Given the description of an element on the screen output the (x, y) to click on. 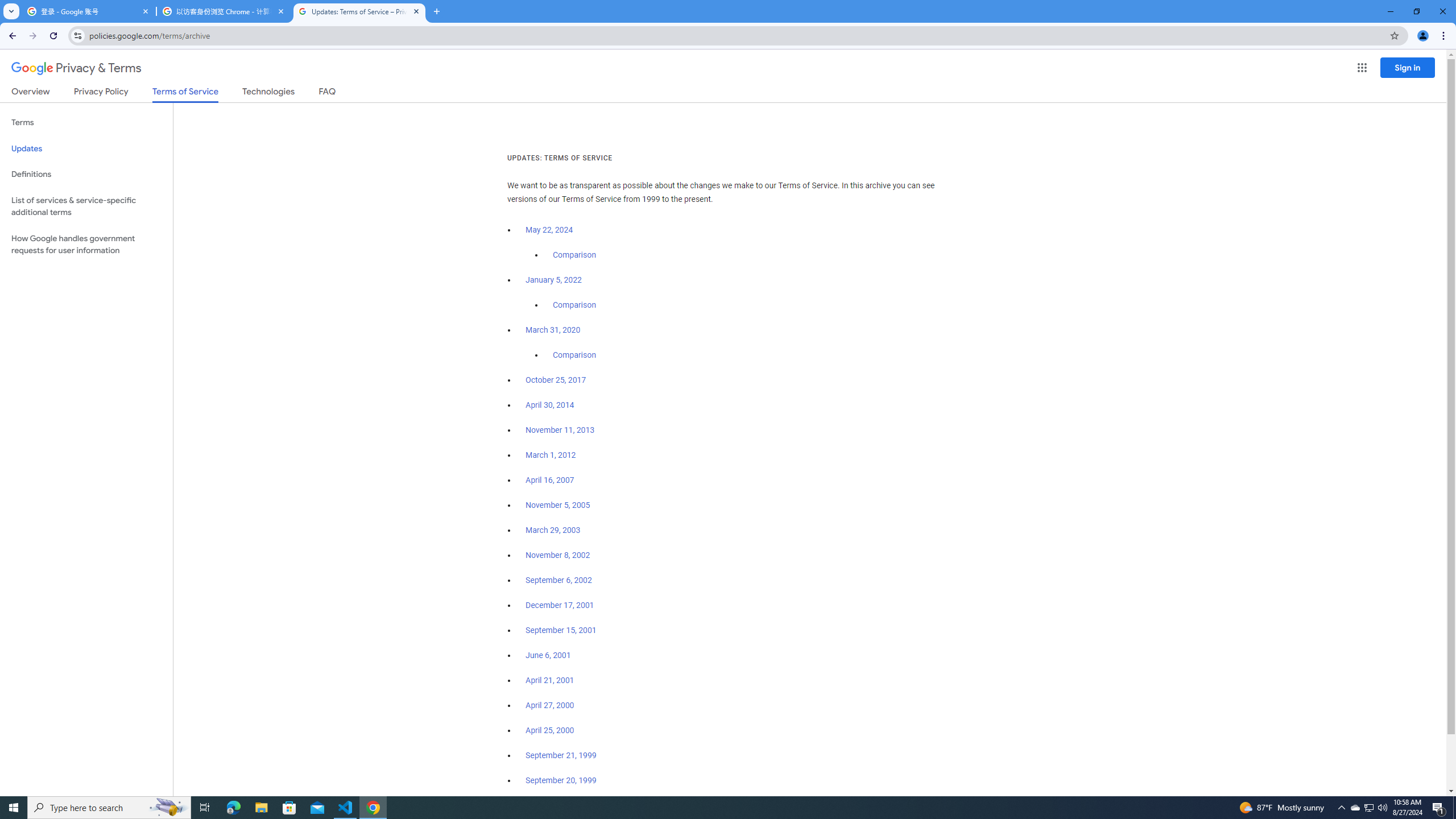
Comparison (574, 355)
September 20, 1999 (560, 780)
October 25, 2017 (555, 380)
April 27, 2000 (550, 705)
September 15, 2001 (560, 629)
April 16, 2007 (550, 480)
March 31, 2020 (552, 330)
September 6, 2002 (558, 579)
